Given the description of an element on the screen output the (x, y) to click on. 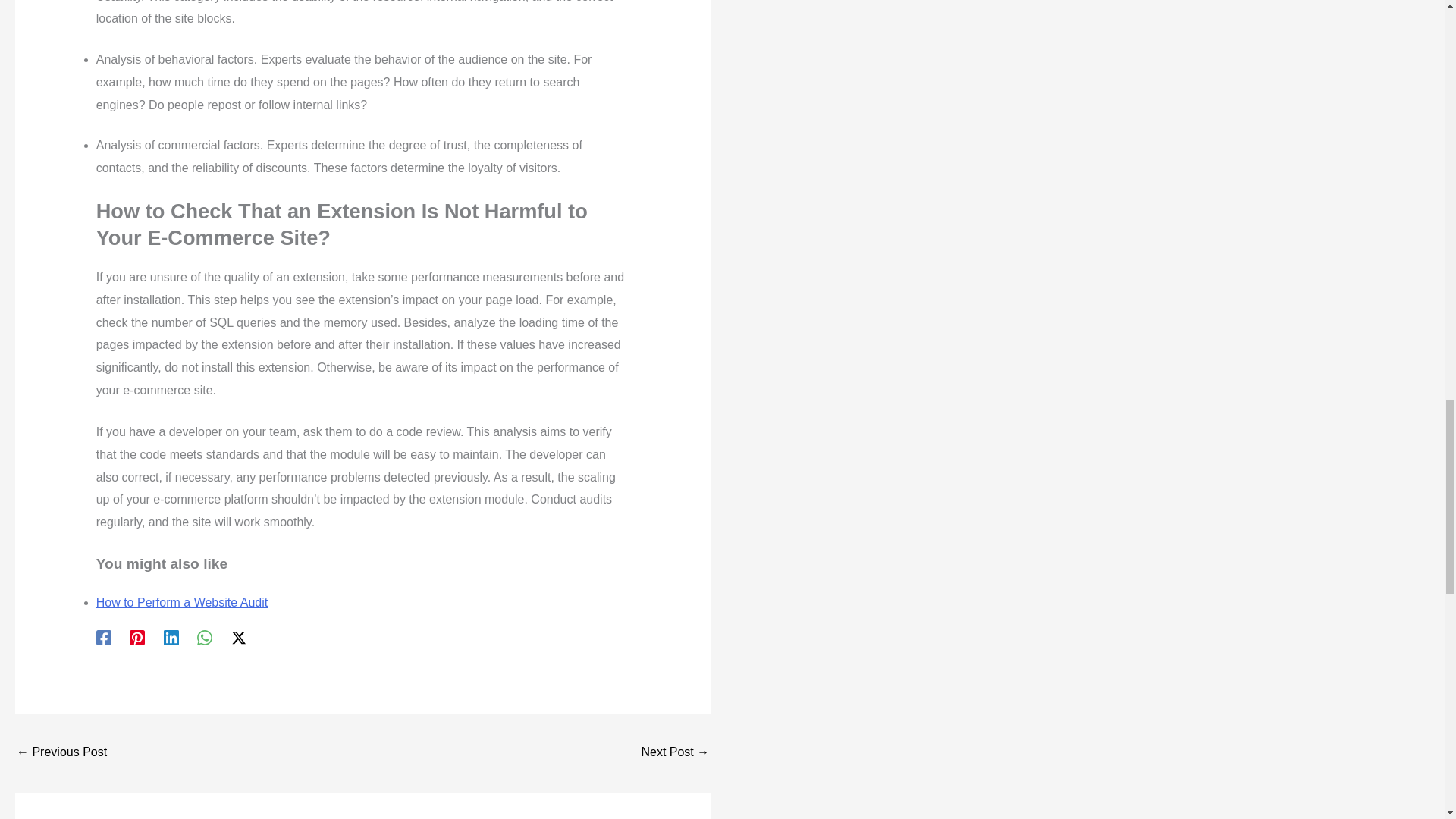
How to Perform a Website Audit (181, 602)
Bitcoin: Why Is the Government Losing Confidence in It? (674, 753)
4 Vehicles For Passive Real Estate Investing (61, 753)
